Given the description of an element on the screen output the (x, y) to click on. 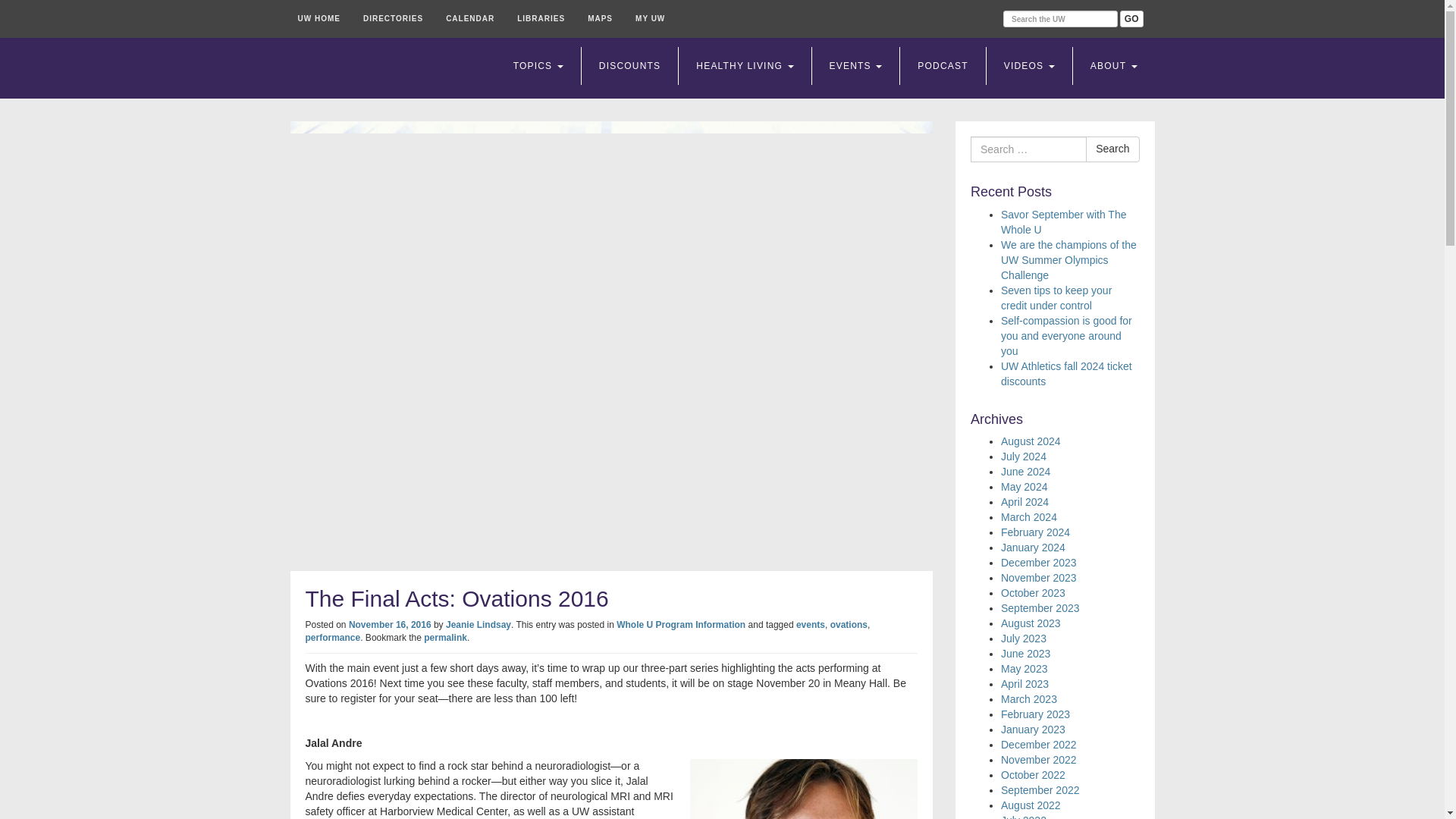
DISCOUNTS (629, 65)
EVENTS (855, 65)
GO (1130, 18)
HEALTHY LIVING (744, 65)
MAPS (599, 18)
THE WHOLE U (383, 67)
CALENDAR (469, 18)
DIRECTORIES (392, 18)
UW HOME (318, 18)
TOPICS (538, 65)
